Given the description of an element on the screen output the (x, y) to click on. 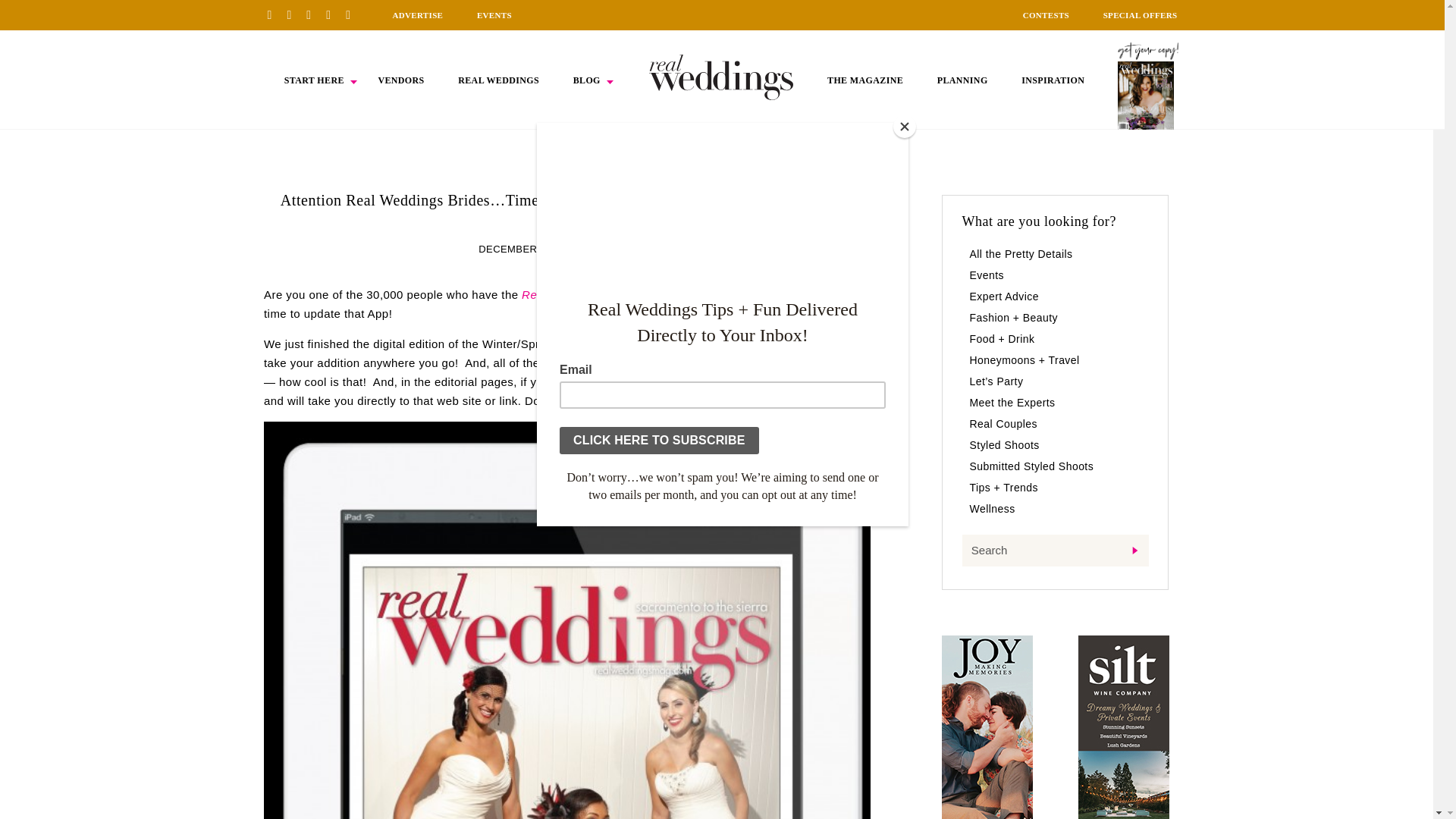
BLOG (586, 80)
Real Weddings (561, 294)
THE MAGAZINE (864, 80)
HOME (721, 76)
VENDORS (400, 80)
ADVERTISE (416, 14)
Search (1054, 550)
EVENTS (494, 14)
Facebook (294, 14)
START HERE (313, 80)
Real Weddings (675, 343)
SPECIAL OFFERS (1140, 14)
Pinterest (274, 14)
YouTube (353, 14)
